Given the description of an element on the screen output the (x, y) to click on. 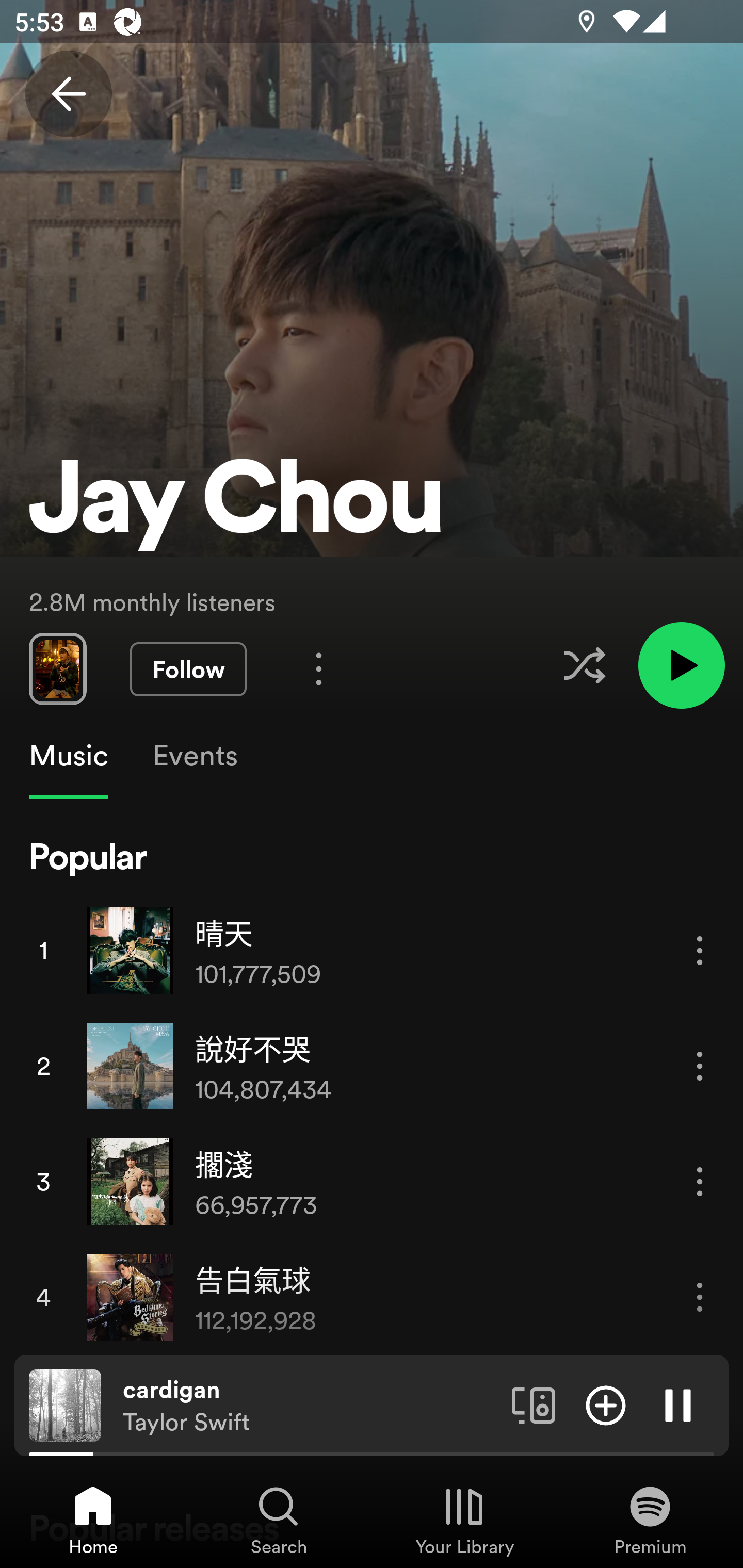
Back (68, 93)
Play artist (681, 664)
Enable shuffle for this artist (583, 665)
More options for artist Jay Chou (318, 668)
Follow (188, 669)
Events (194, 755)
1 晴天 101,777,509 More options for song 晴天 (371, 950)
More options for song 晴天 (699, 950)
2 說好不哭 104,807,434 More options for song 說好不哭 (371, 1066)
More options for song 說好不哭 (699, 1066)
3 擱淺 66,957,773 More options for song 擱淺 (371, 1181)
More options for song 擱淺 (699, 1181)
4 告白氣球 112,192,928 More options for song 告白氣球 (371, 1296)
More options for song 告白氣球 (699, 1297)
cardigan Taylor Swift (309, 1405)
The cover art of the currently playing track (64, 1404)
Connect to a device. Opens the devices menu (533, 1404)
Pause (677, 1404)
Home, Tab 1 of 4 Home Home (92, 1519)
Search, Tab 2 of 4 Search Search (278, 1519)
Your Library, Tab 3 of 4 Your Library Your Library (464, 1519)
Premium, Tab 4 of 4 Premium Premium (650, 1519)
